Given the description of an element on the screen output the (x, y) to click on. 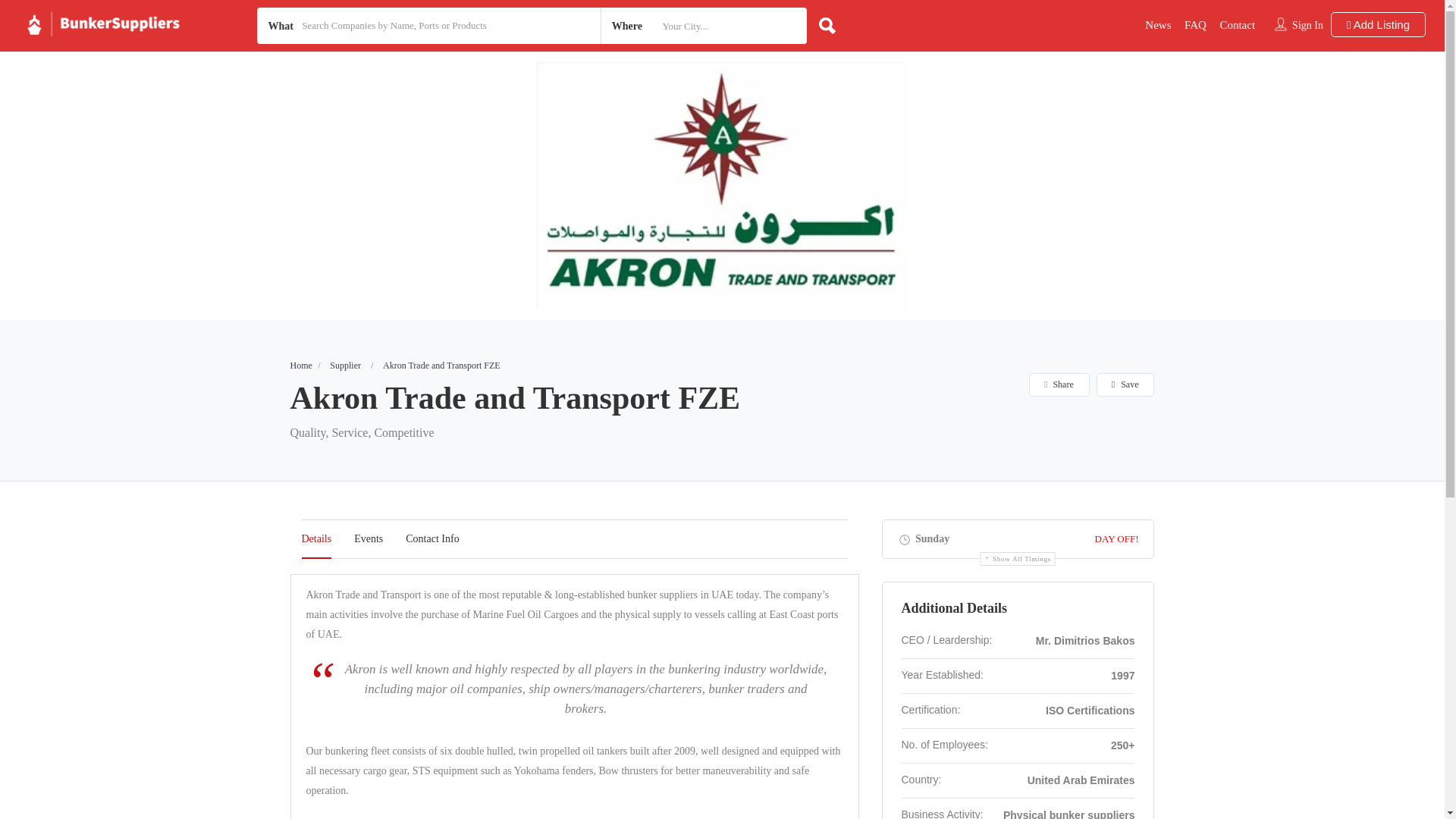
Contact Info (432, 538)
Home (300, 365)
Supplier (345, 365)
Submit (413, 502)
Sign In (1307, 25)
News (1157, 24)
FAQ (1196, 24)
Save (1125, 384)
Contact (1237, 24)
Share (1058, 384)
Add Listing (1377, 24)
